Given the description of an element on the screen output the (x, y) to click on. 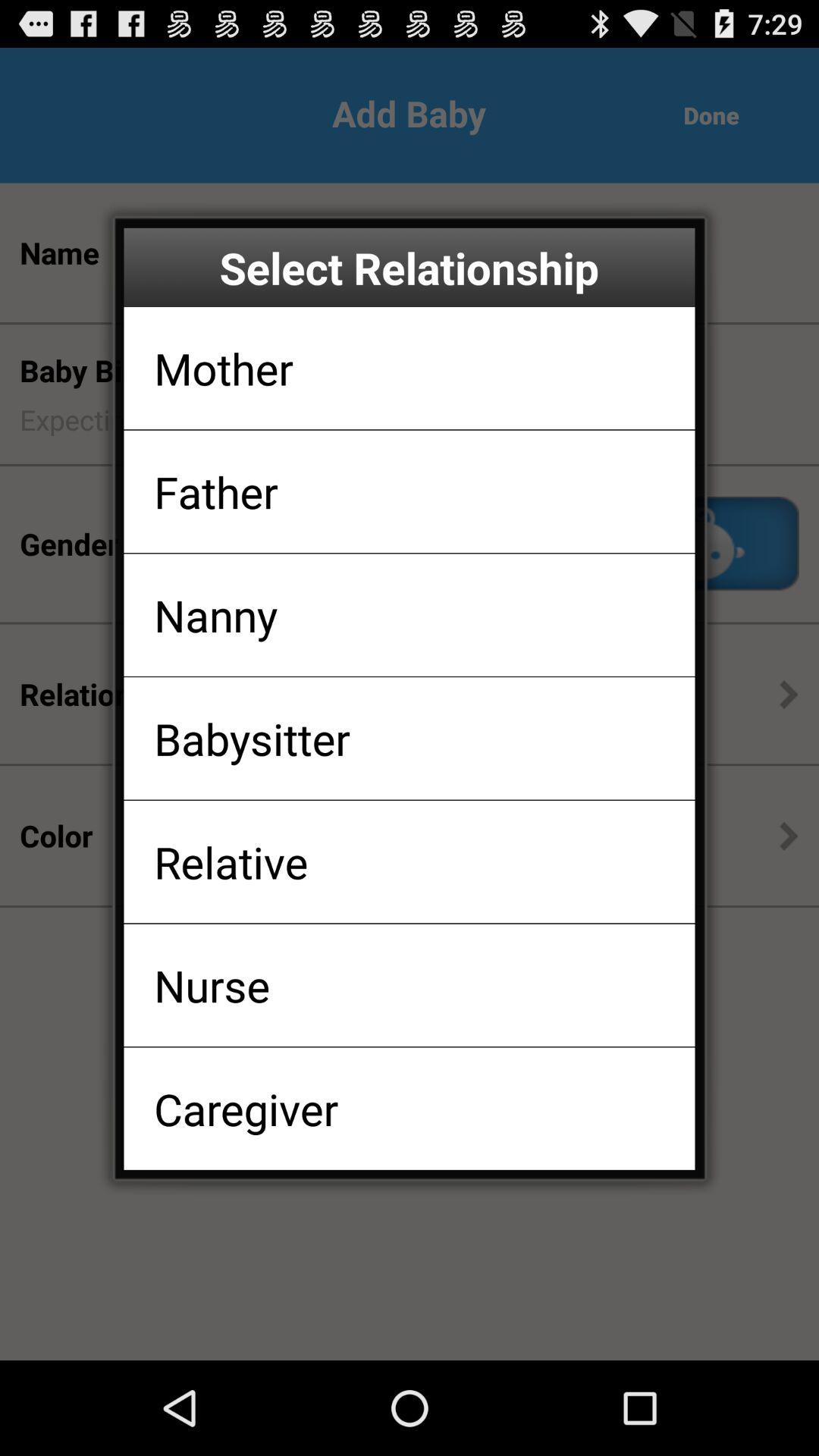
click the nanny item (215, 614)
